Given the description of an element on the screen output the (x, y) to click on. 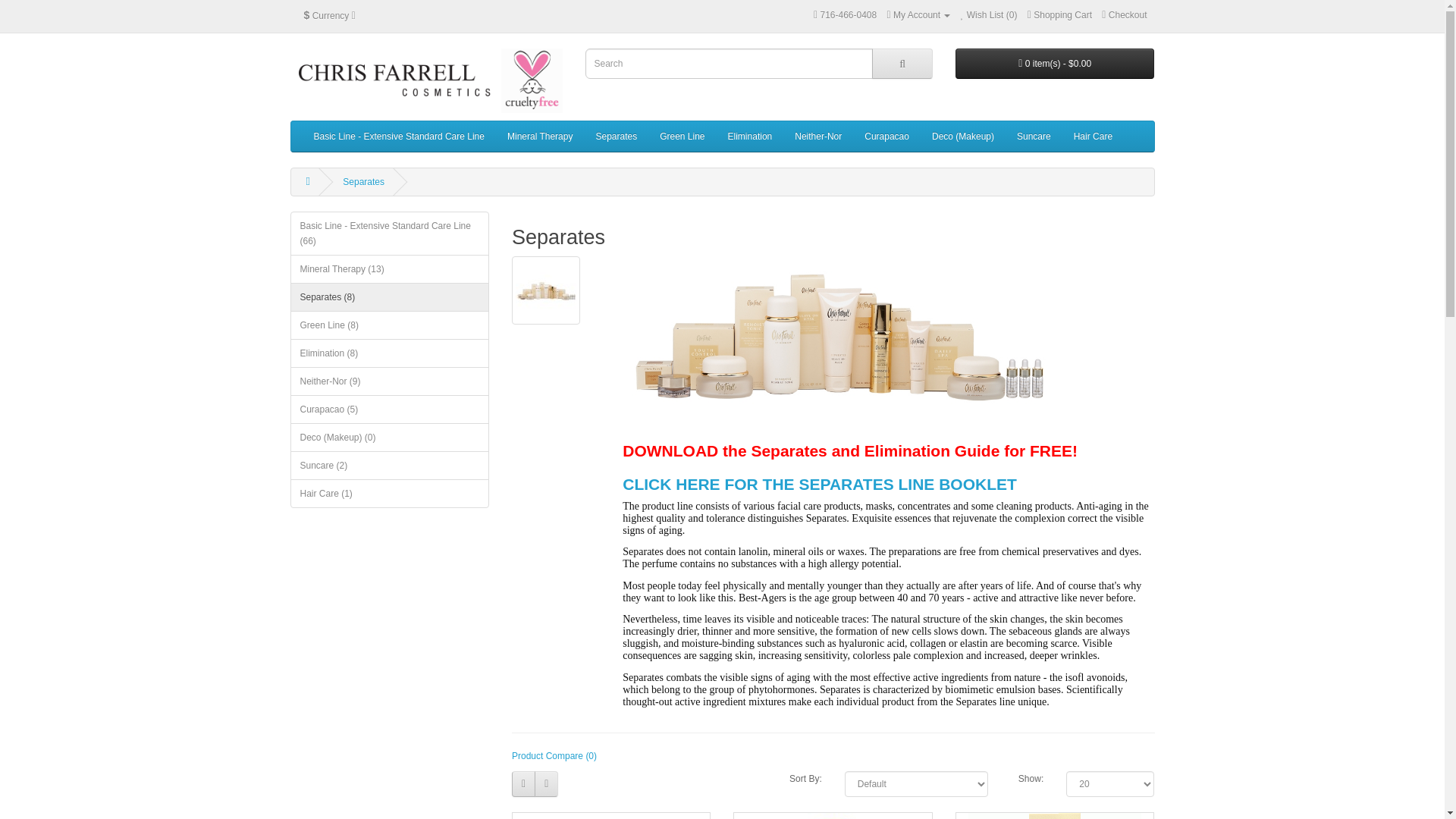
Hair Care (1093, 136)
Separates (363, 181)
Green Line (681, 136)
Mineral Therapy (539, 136)
Checkout (1124, 14)
Eyelid Firmer Concentrate 3x4ml Eye Serum (610, 816)
Curapacao (886, 136)
Elimination (750, 136)
Chris Farrell Cosmetics North America (425, 80)
Eyelid Treatment 15ml Eye Cream (1054, 816)
